Given the description of an element on the screen output the (x, y) to click on. 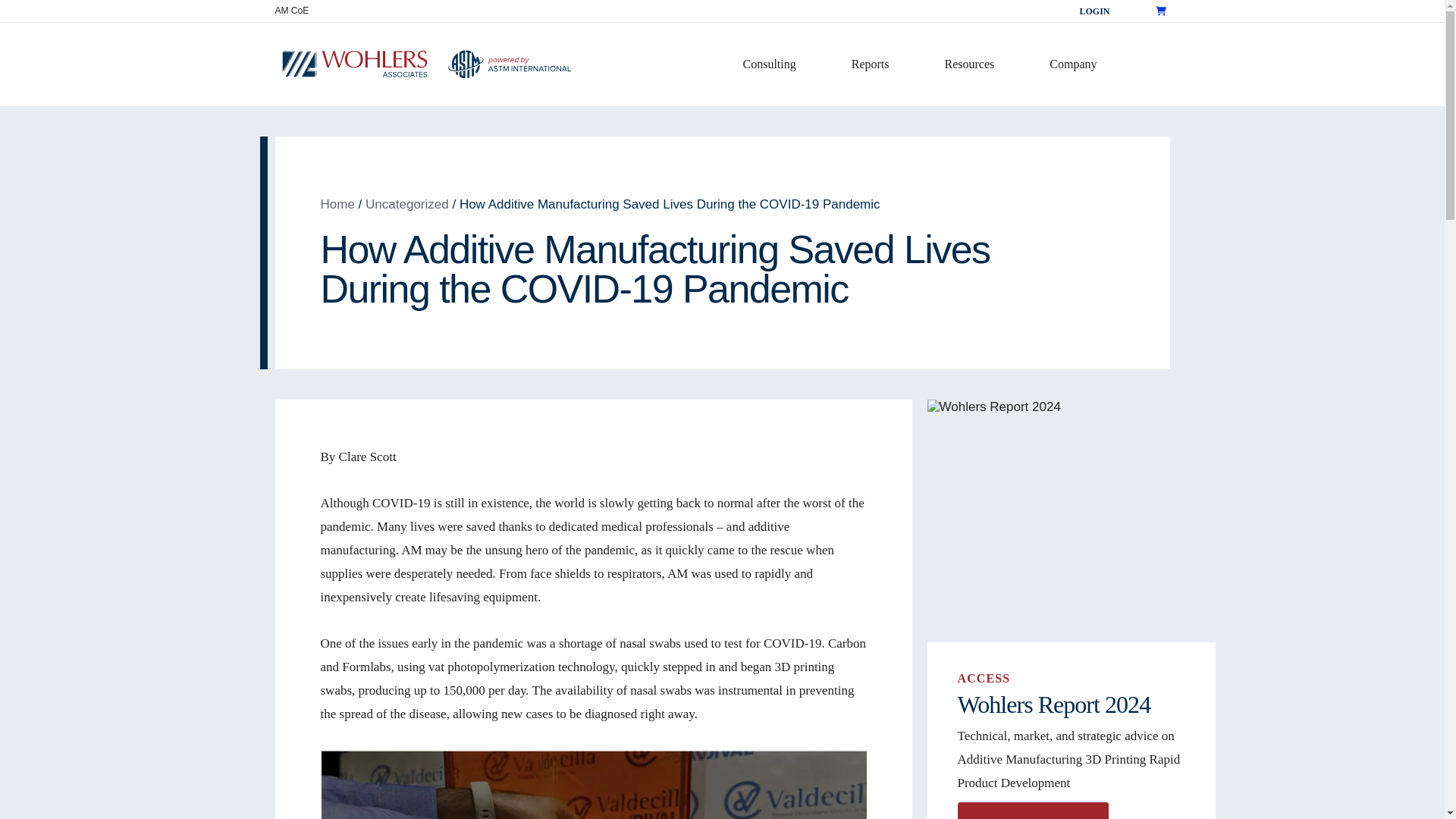
Consulting (775, 64)
Home (336, 204)
Company (1080, 64)
SEE REPORT (1032, 810)
Wohlers Associates (336, 204)
AM CoE (291, 10)
Resources (976, 64)
Uncategorized (406, 204)
LOGIN (1085, 10)
Reports (877, 64)
